Given the description of an element on the screen output the (x, y) to click on. 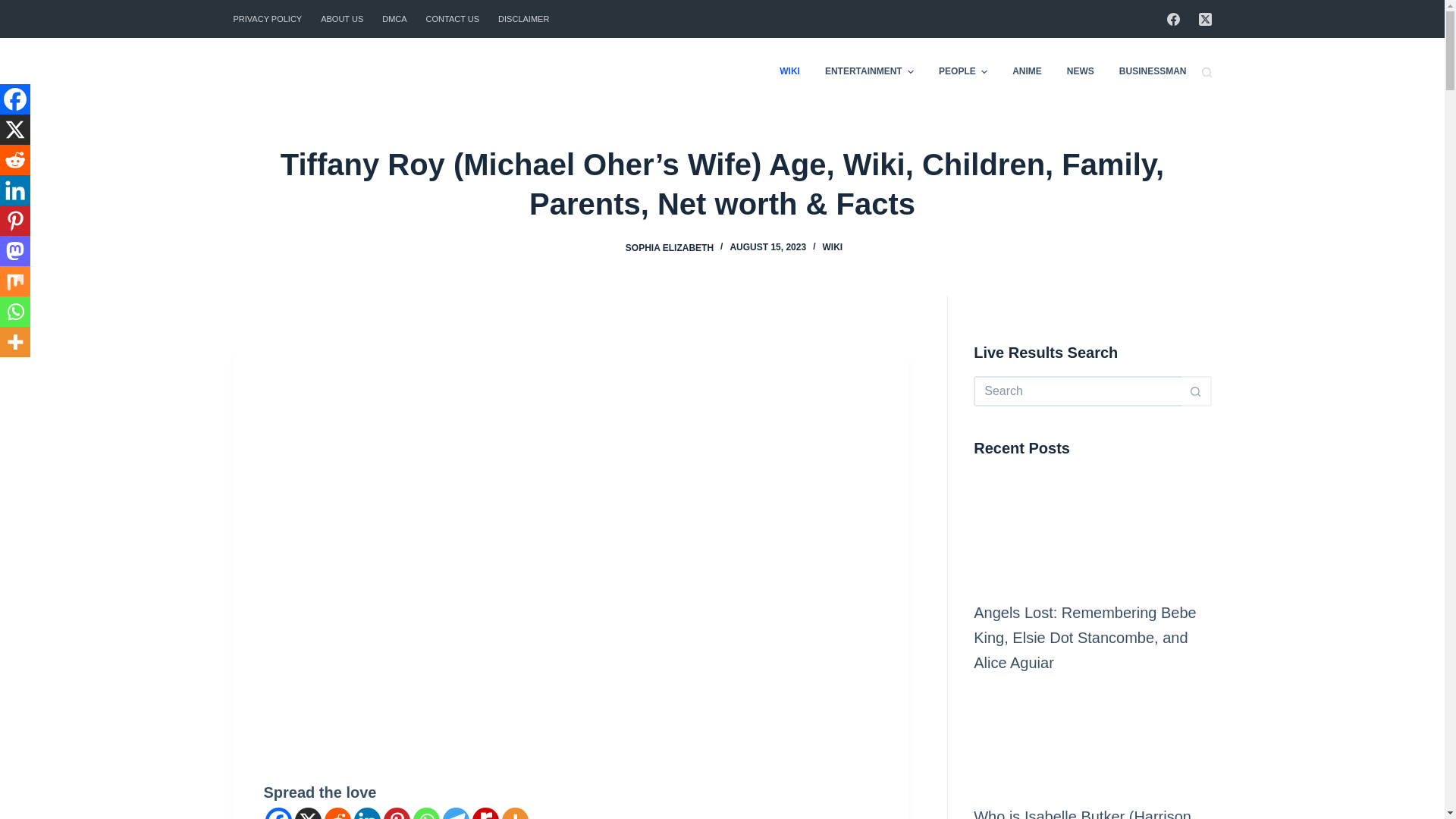
Linkedin (366, 813)
ABOUT US (341, 18)
Pinterest (397, 813)
CONTACT US (452, 18)
BUSINESSMAN (1146, 71)
More (515, 813)
Telegram (455, 813)
Rediff MyPage (484, 813)
PRIVACY POLICY (271, 18)
PEOPLE (963, 71)
Whatsapp (425, 813)
Facebook (278, 813)
ENTERTAINMENT (869, 71)
Skip to content (15, 7)
Posts by Sophia Elizabeth (669, 246)
